Given the description of an element on the screen output the (x, y) to click on. 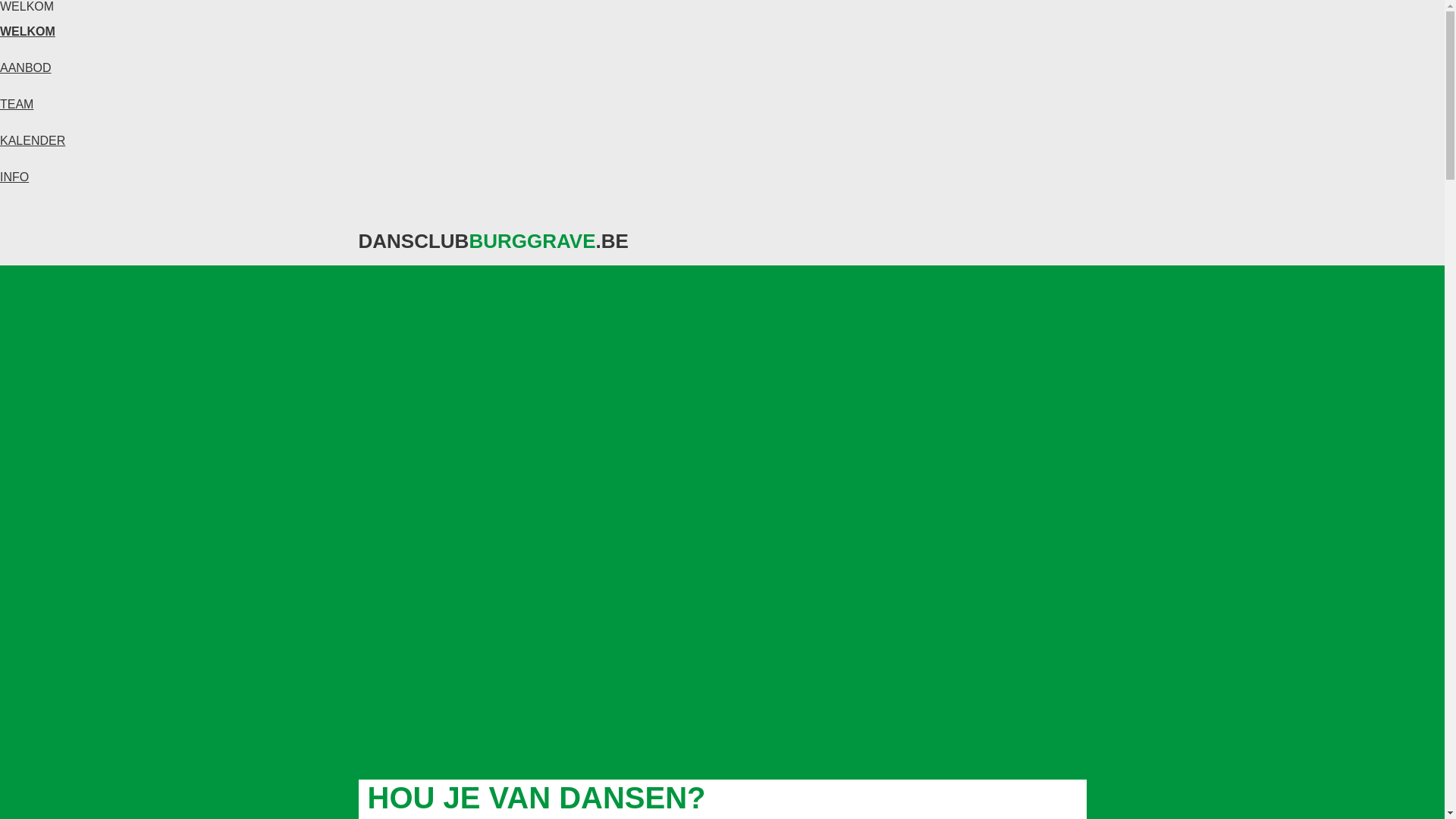
WELKOM Element type: text (27, 31)
INFO Element type: text (14, 176)
AANBOD Element type: text (25, 67)
TEAM Element type: text (16, 103)
KALENDER Element type: text (32, 140)
